Given the description of an element on the screen output the (x, y) to click on. 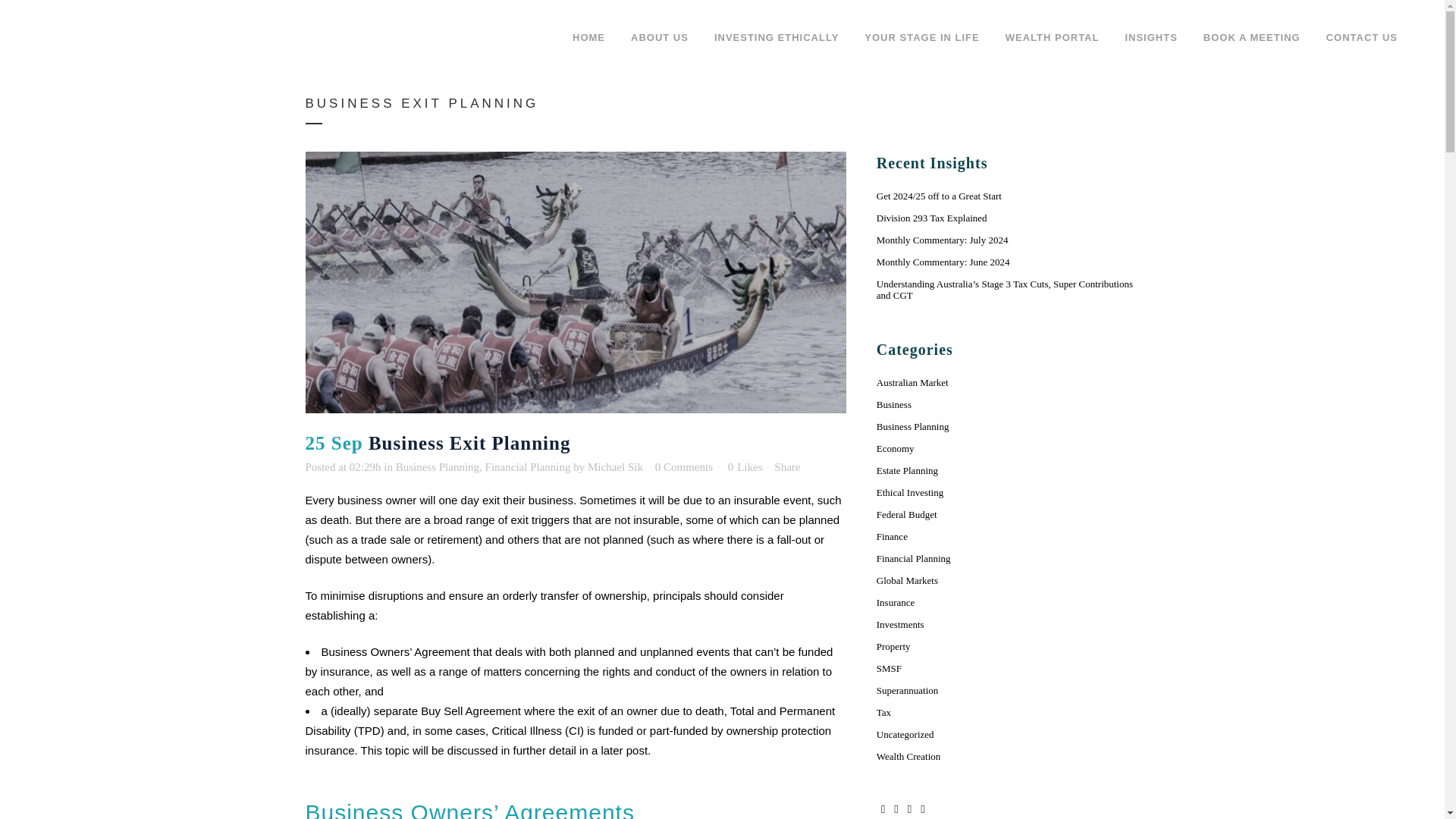
Like this (745, 466)
INVESTING ETHICALLY (776, 38)
ABOUT US (659, 38)
YOUR STAGE IN LIFE (921, 38)
